Given the description of an element on the screen output the (x, y) to click on. 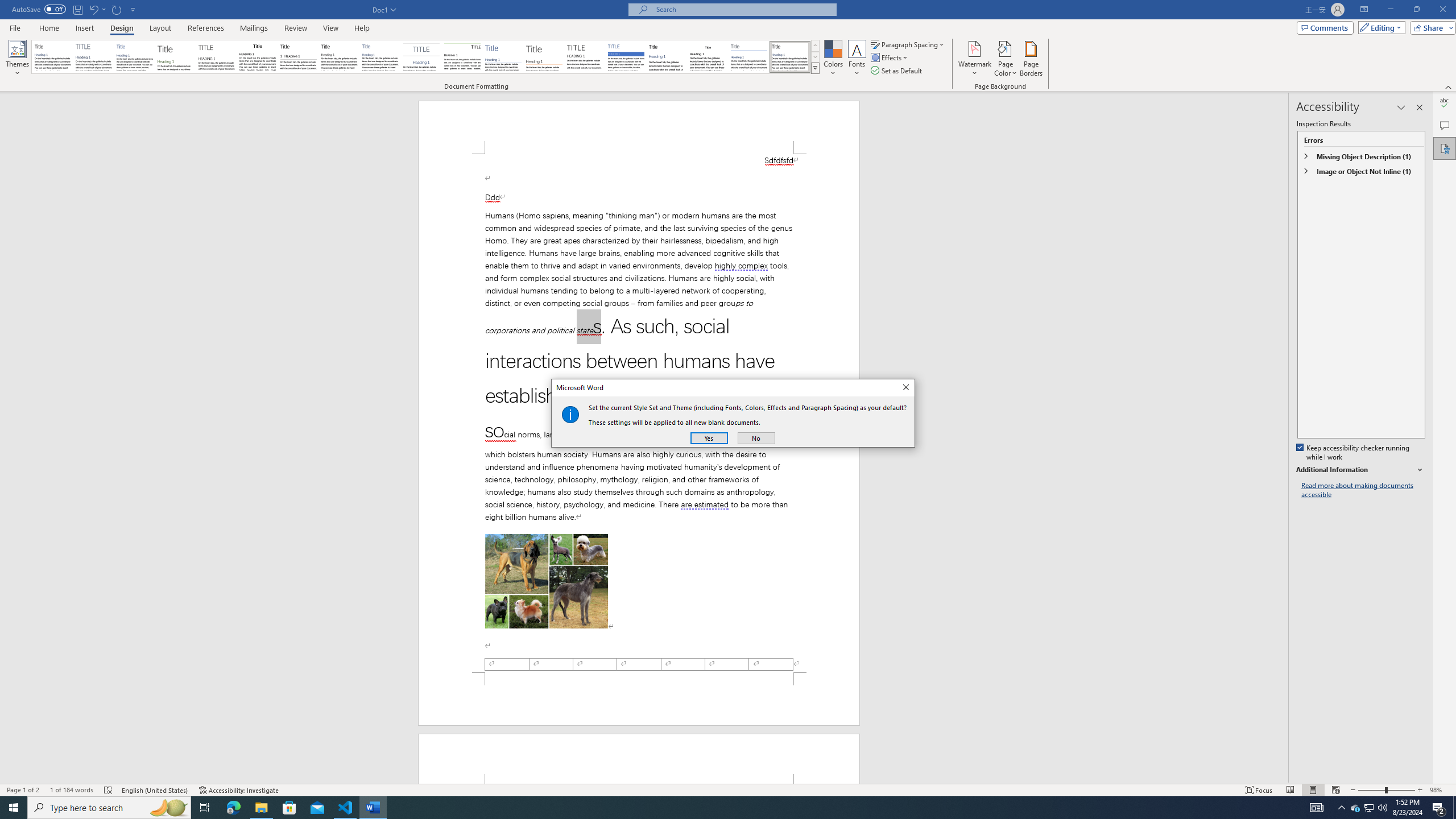
Fonts (856, 58)
Set as Default (897, 69)
Keep accessibility checker running while I work (1353, 452)
Lines (Distinctive) (462, 56)
Black & White (Classic) (257, 56)
Undo Apply Quick Style Set (92, 9)
Shaded (625, 56)
